Given the description of an element on the screen output the (x, y) to click on. 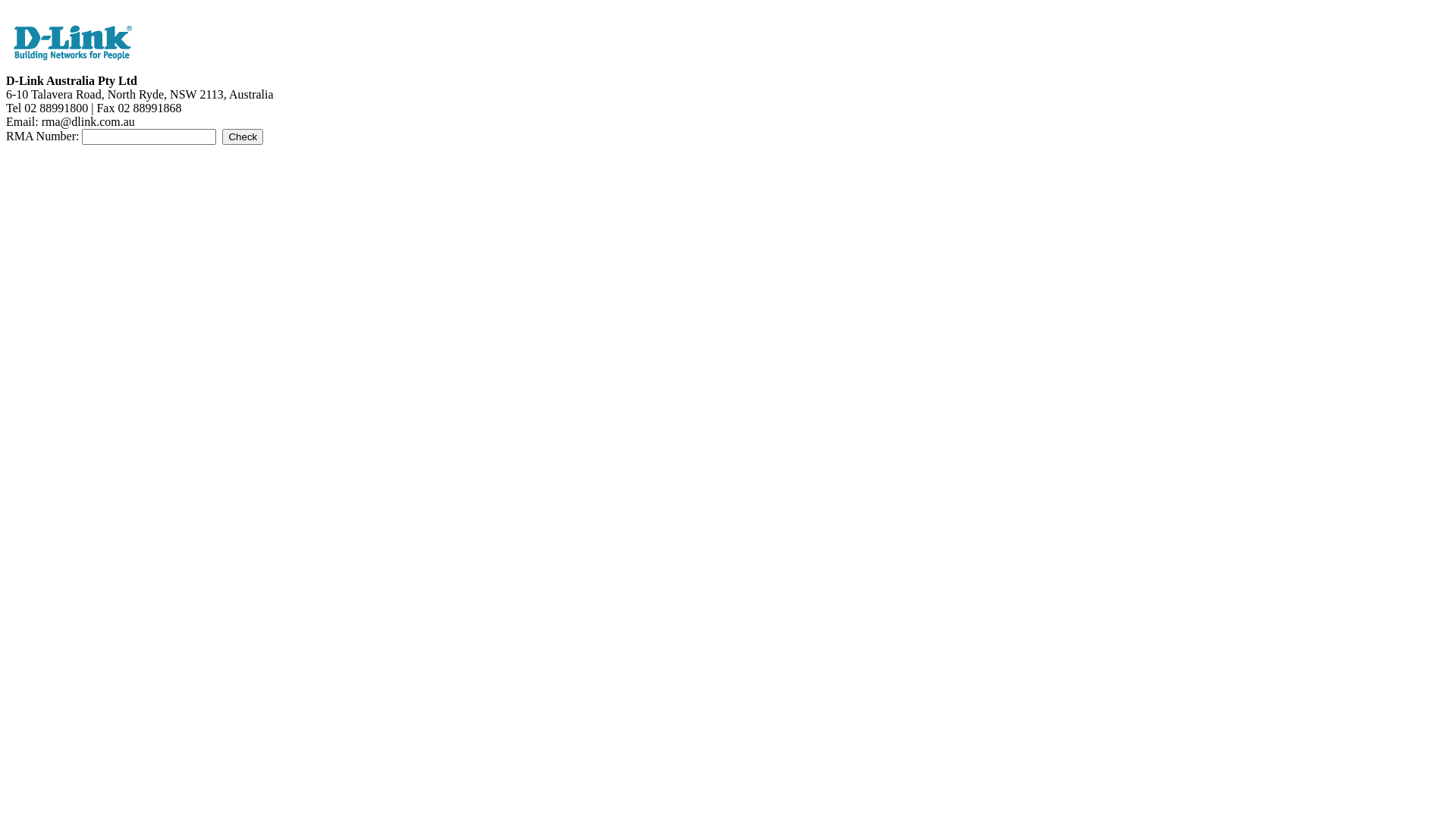
Check Element type: text (242, 136)
